Given the description of an element on the screen output the (x, y) to click on. 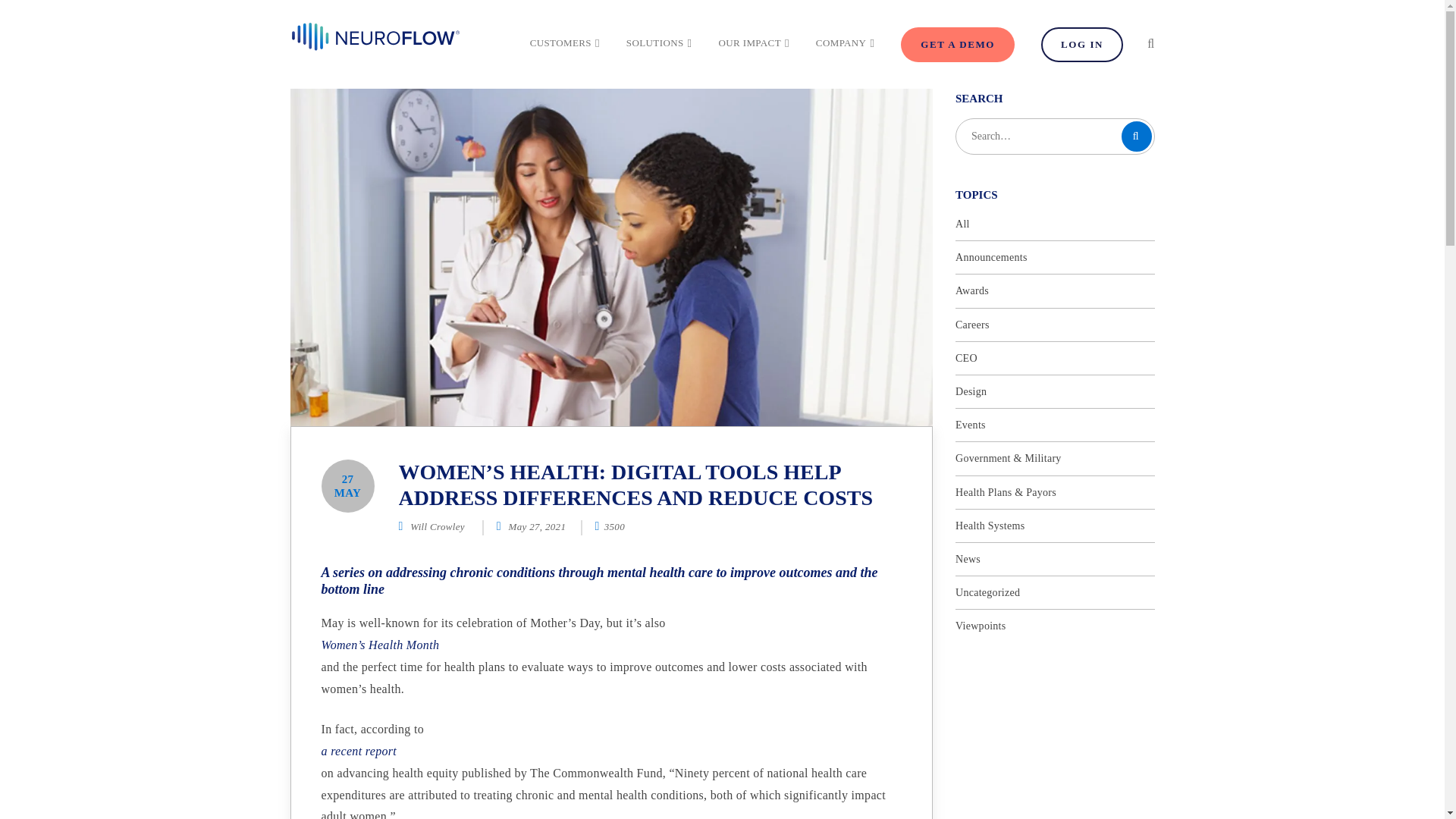
Search for: (1054, 135)
SOLUTIONS (659, 43)
GET A DEMO (957, 44)
CUSTOMERS (564, 43)
NeuroFlow-Integrated Behavioral Health (375, 36)
OUR IMPACT (753, 43)
LOG IN (1081, 44)
